Given the description of an element on the screen output the (x, y) to click on. 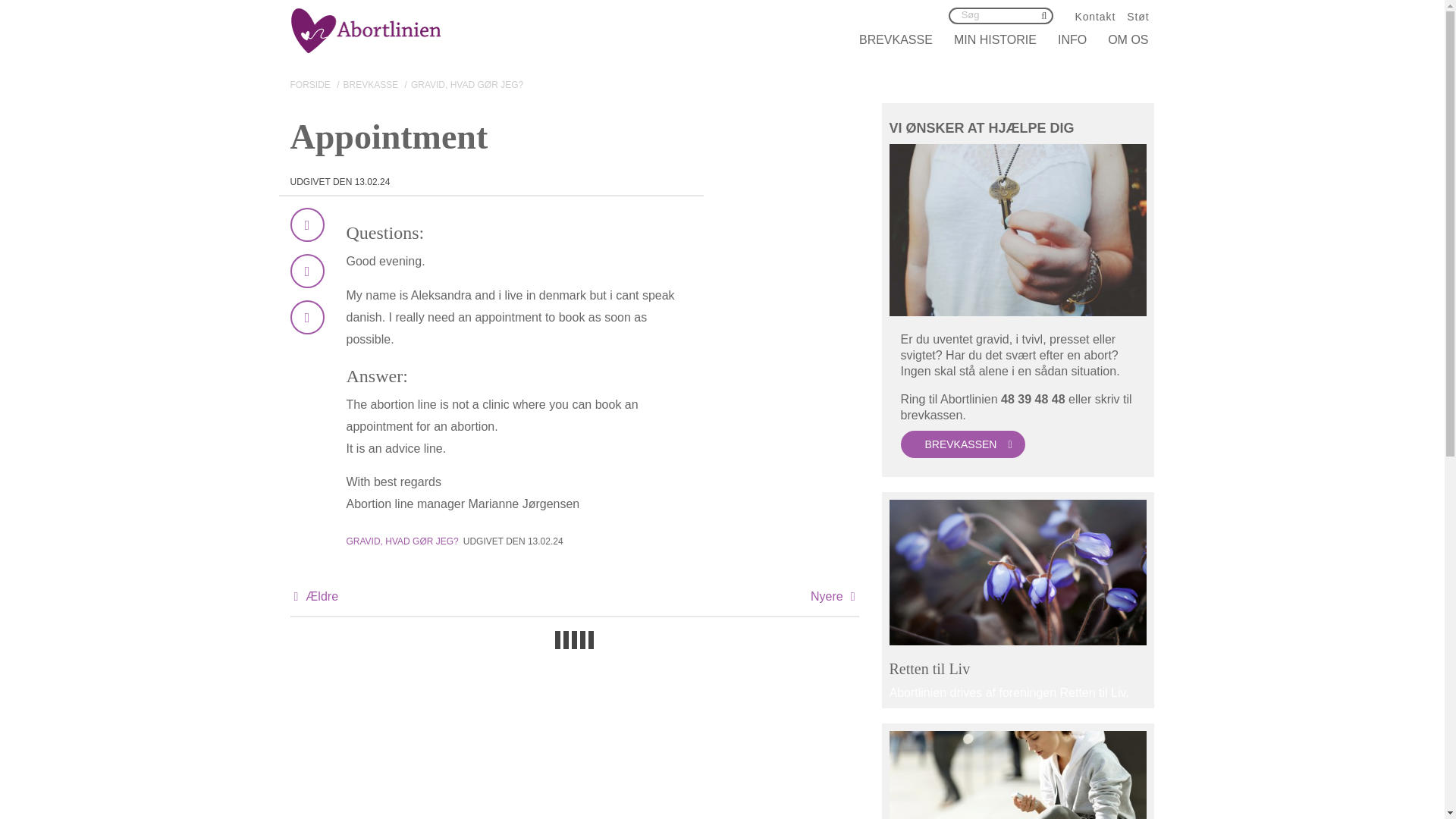
Abortlinien (1072, 39)
